Given the description of an element on the screen output the (x, y) to click on. 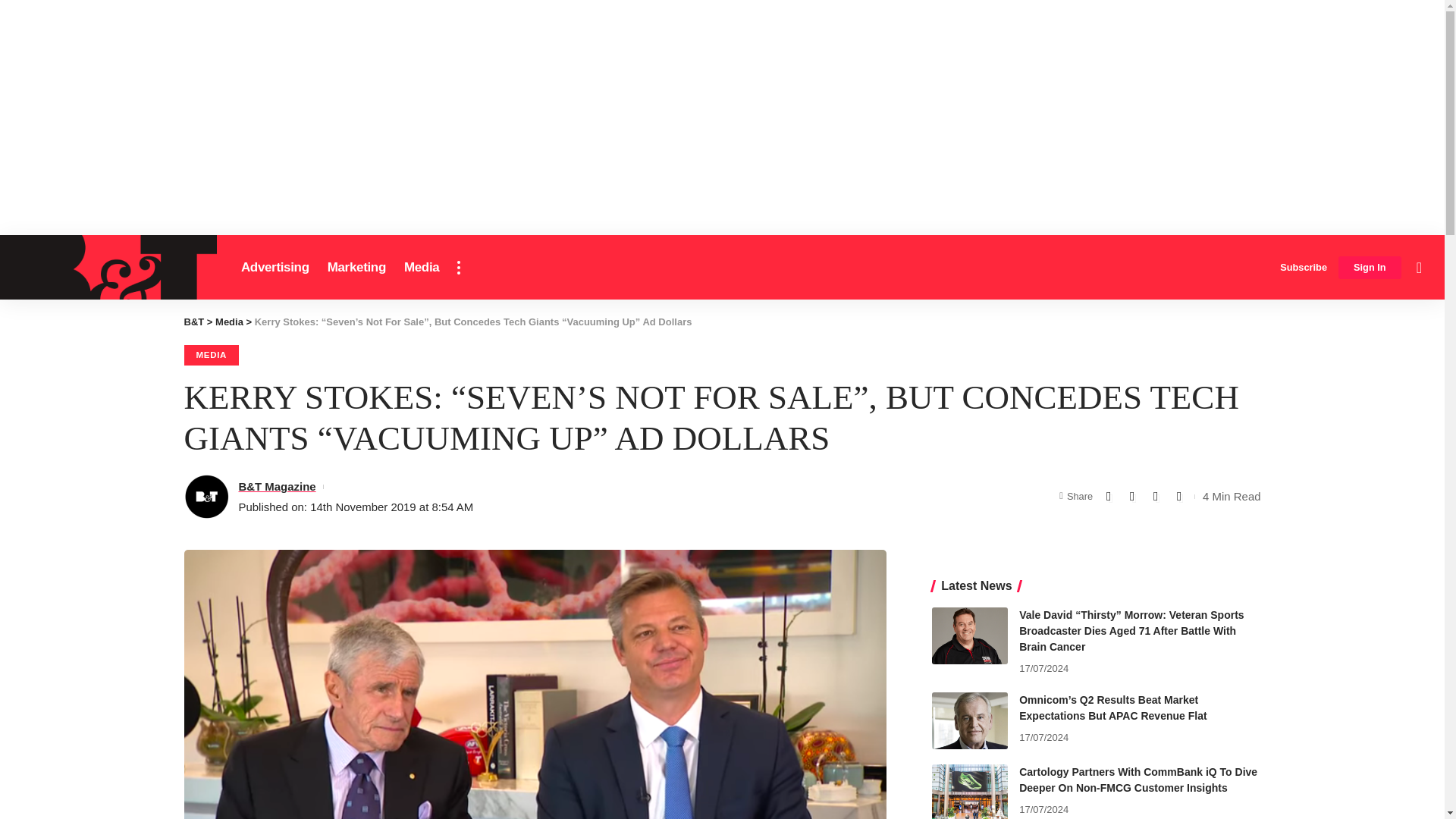
Go to the Media Category archives. (229, 321)
Sign In (1369, 267)
Media (421, 267)
Marketing (356, 267)
Subscribe (1302, 267)
Advertising (274, 267)
